Given the description of an element on the screen output the (x, y) to click on. 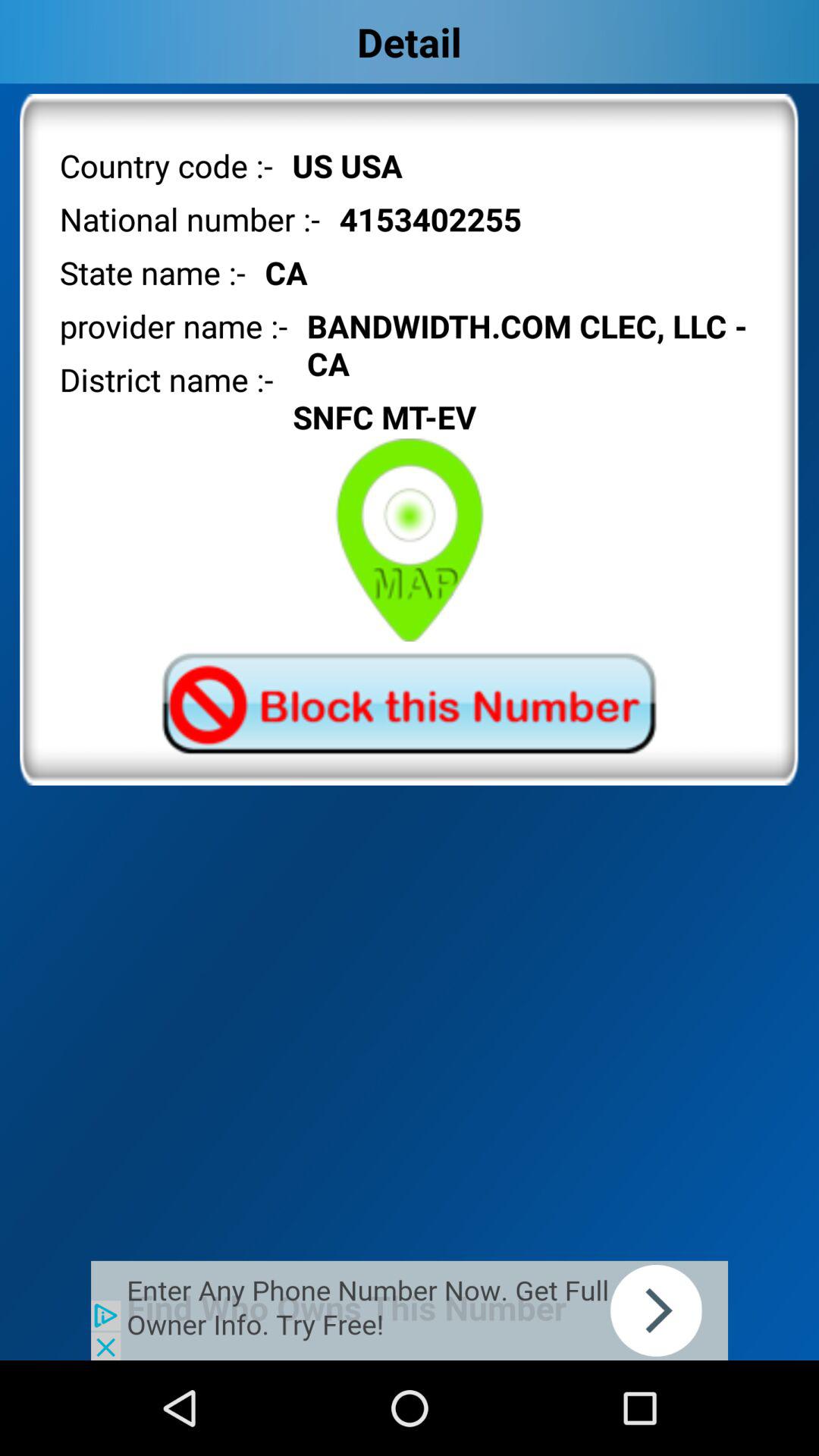
open advertisement (409, 1310)
